Given the description of an element on the screen output the (x, y) to click on. 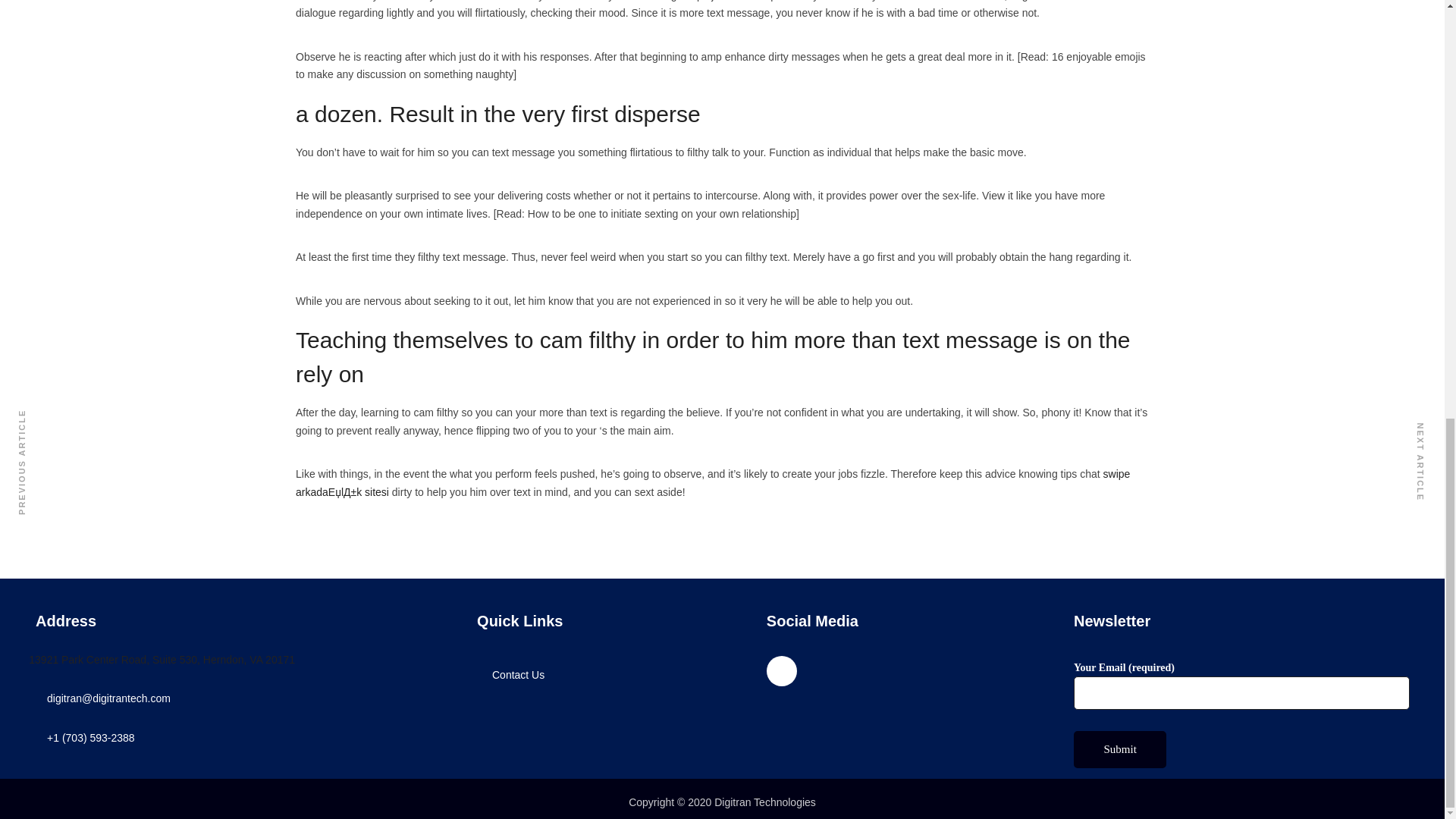
13921 Park Center Road, Suite 530, Herndon, VA 20171 (162, 659)
Submit (1120, 749)
Contact Us (518, 674)
Submit (1120, 749)
